Given the description of an element on the screen output the (x, y) to click on. 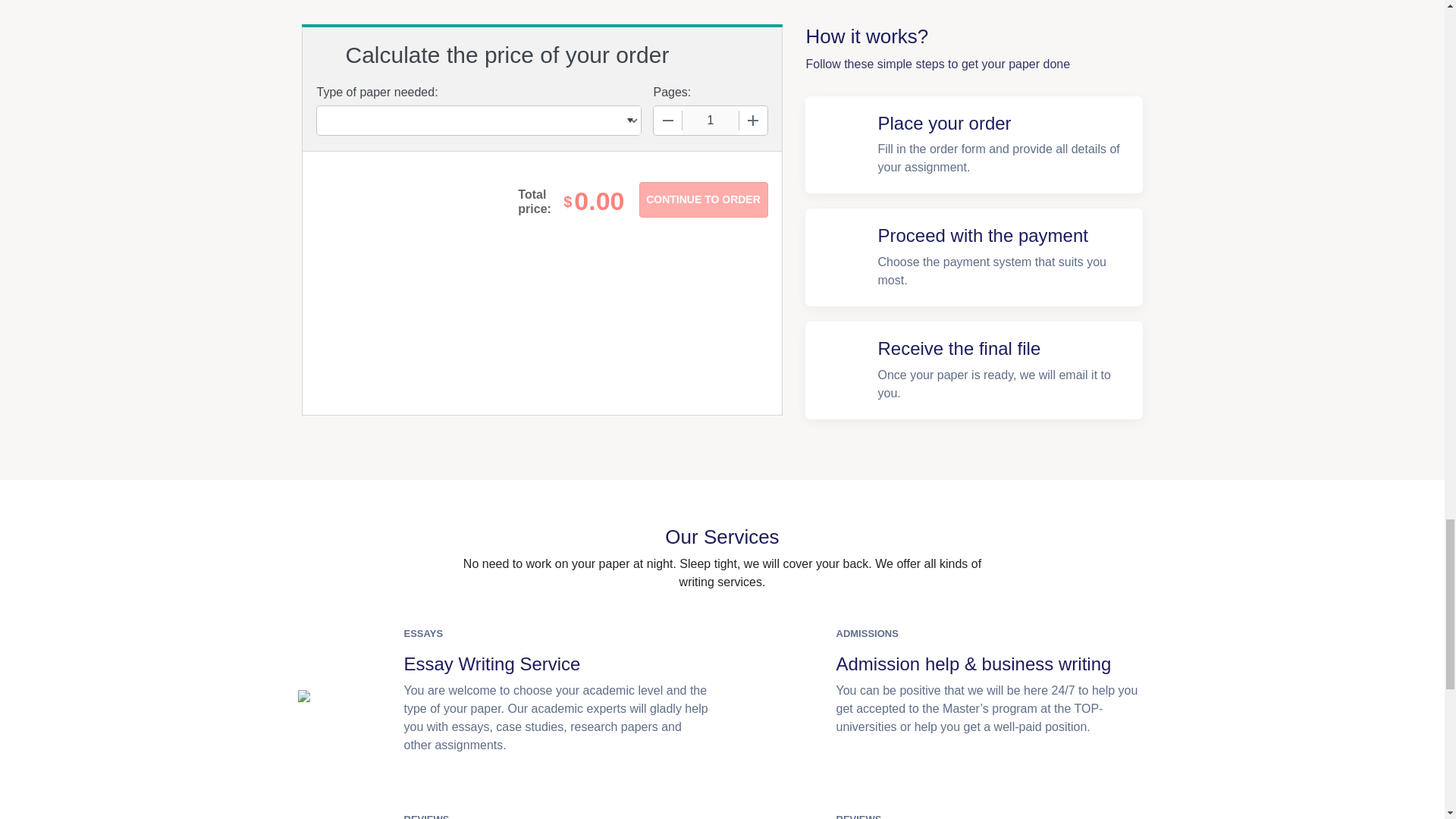
Continue to order (703, 199)
Increase (752, 120)
Continue to order (703, 199)
1 (710, 120)
Decrease (667, 120)
Continue to Order (703, 199)
